Given the description of an element on the screen output the (x, y) to click on. 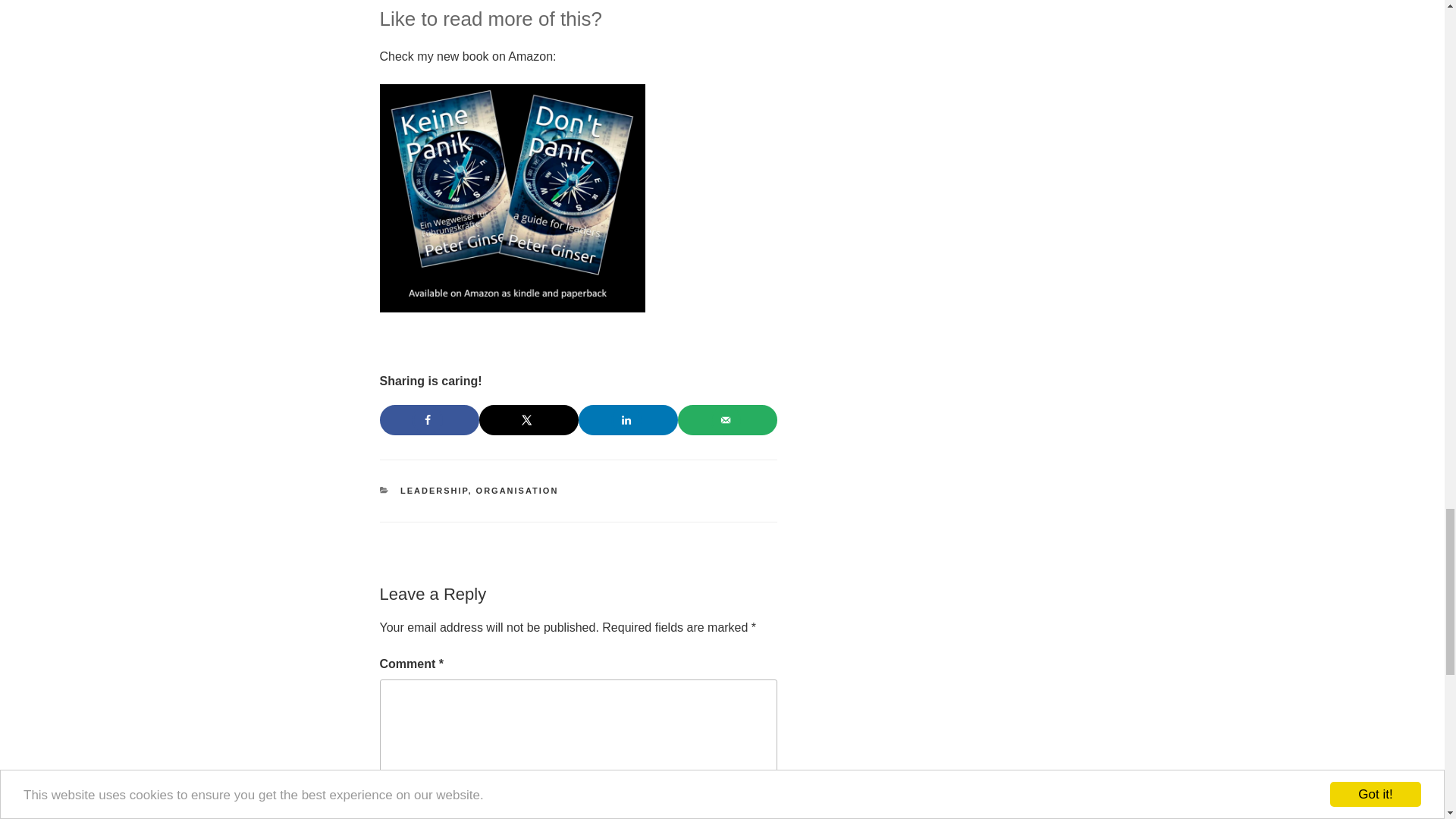
LEADERSHIP (433, 490)
Share on Facebook (428, 419)
Share on X (528, 419)
Share on LinkedIn (628, 419)
ORGANISATION (517, 490)
Send over email (727, 419)
